Given the description of an element on the screen output the (x, y) to click on. 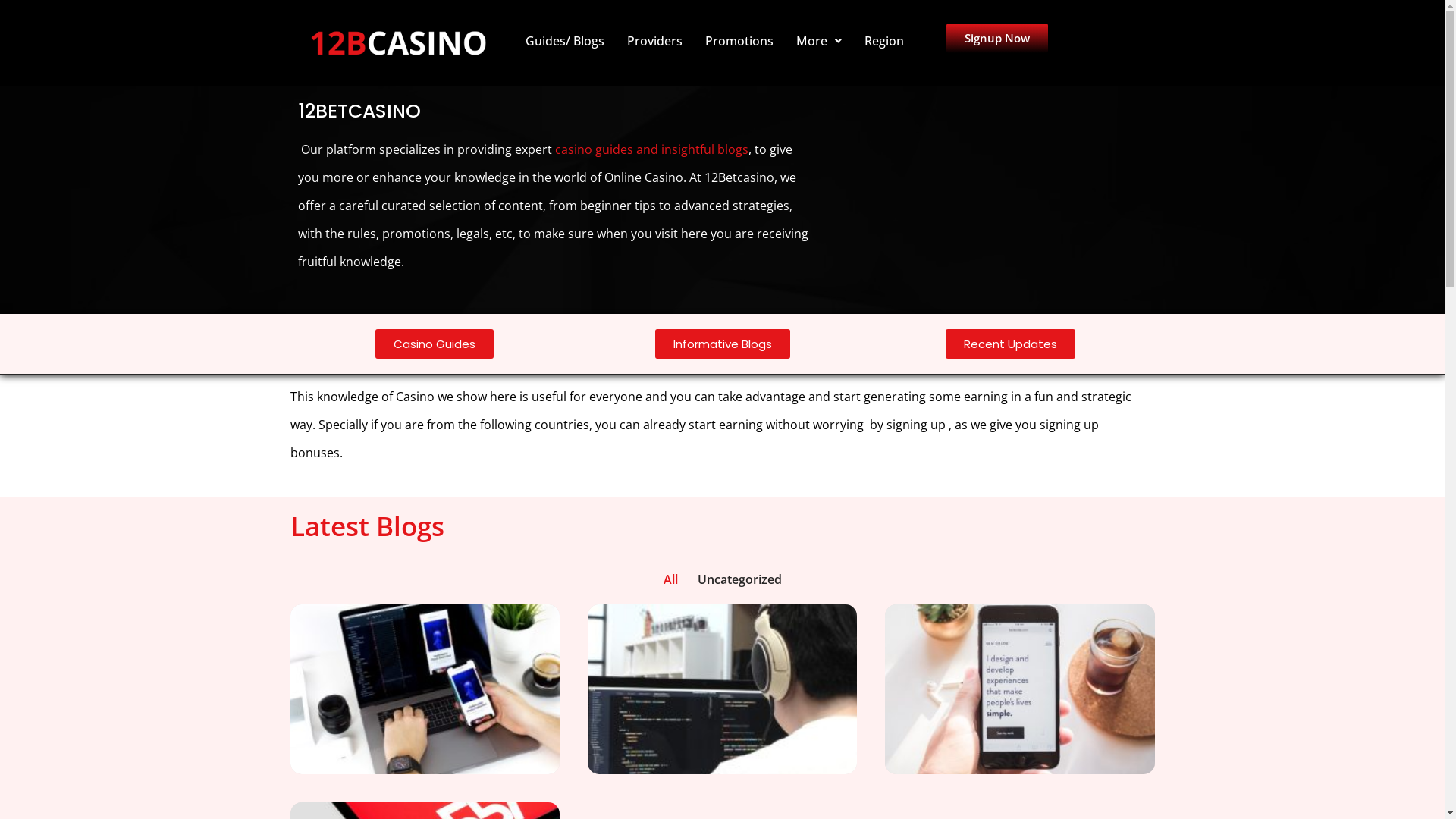
Signup Now Element type: text (997, 38)
Guides/ Blogs Element type: text (564, 40)
Casino Guides Element type: text (433, 343)
Region Element type: text (883, 40)
Providers Element type: text (654, 40)
Skip to content Element type: text (11, 31)
Recent Updates Element type: text (1010, 343)
More Element type: text (818, 40)
Promotions Element type: text (738, 40)
Informative Blogs Element type: text (722, 343)
